Given the description of an element on the screen output the (x, y) to click on. 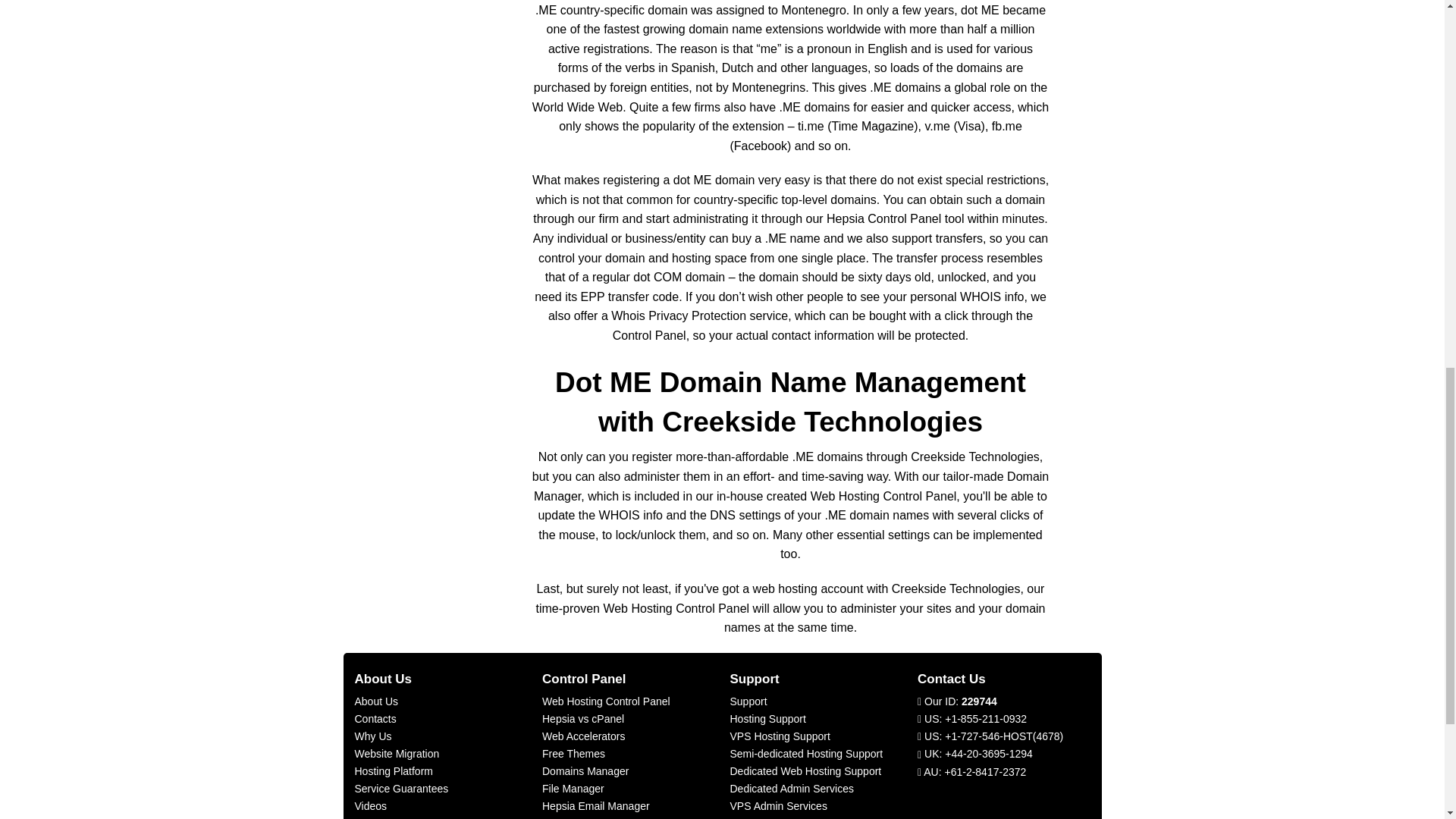
Website Migration (397, 753)
Why Us (373, 736)
Terms of Service (394, 818)
Hosting Platform (393, 770)
Videos (371, 806)
Contacts (375, 718)
Service Guarantees (401, 788)
Web Hosting Control Panel (605, 701)
About Us (376, 701)
